Given the description of an element on the screen output the (x, y) to click on. 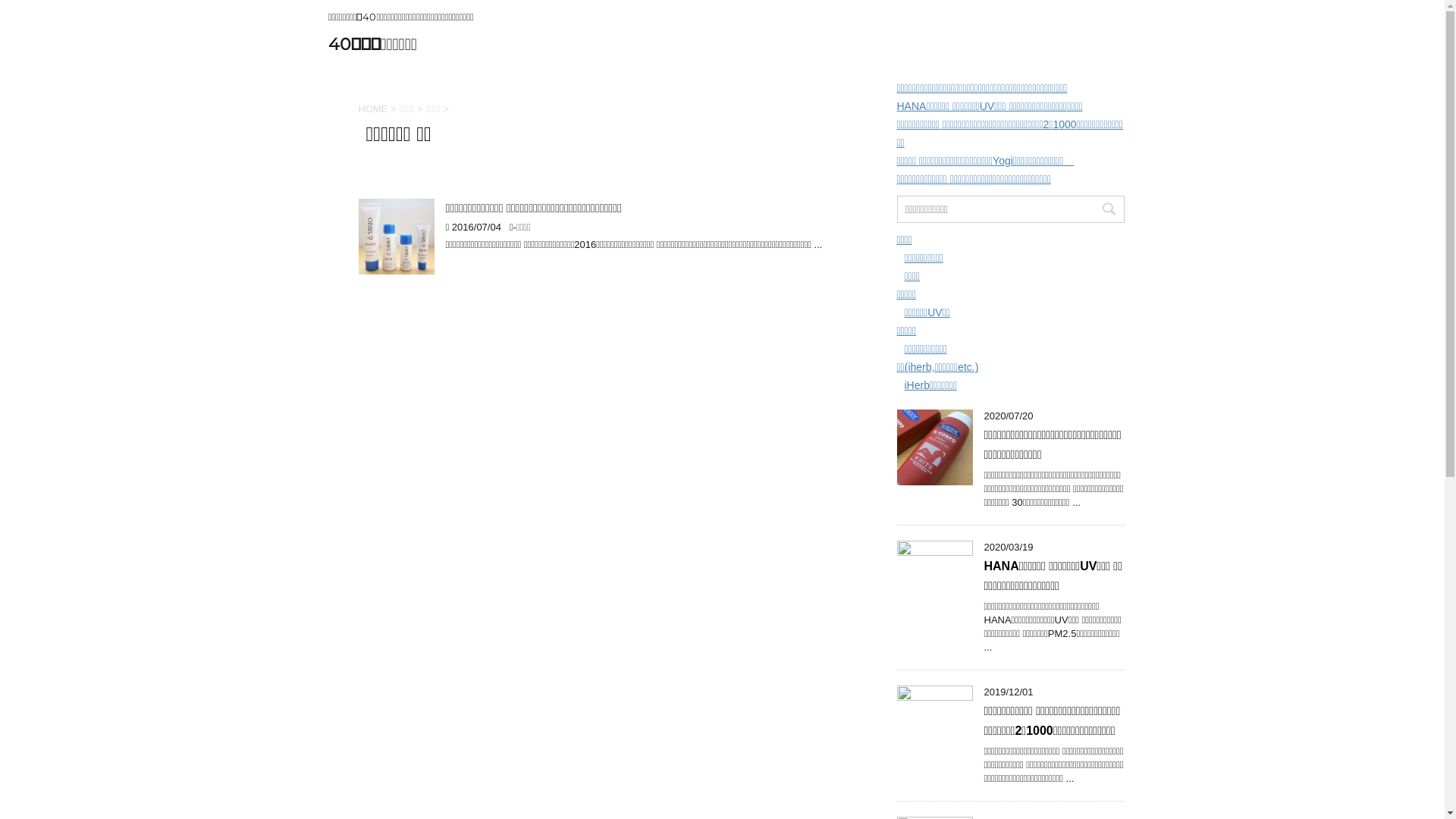
HOME Element type: text (372, 108)
